Given the description of an element on the screen output the (x, y) to click on. 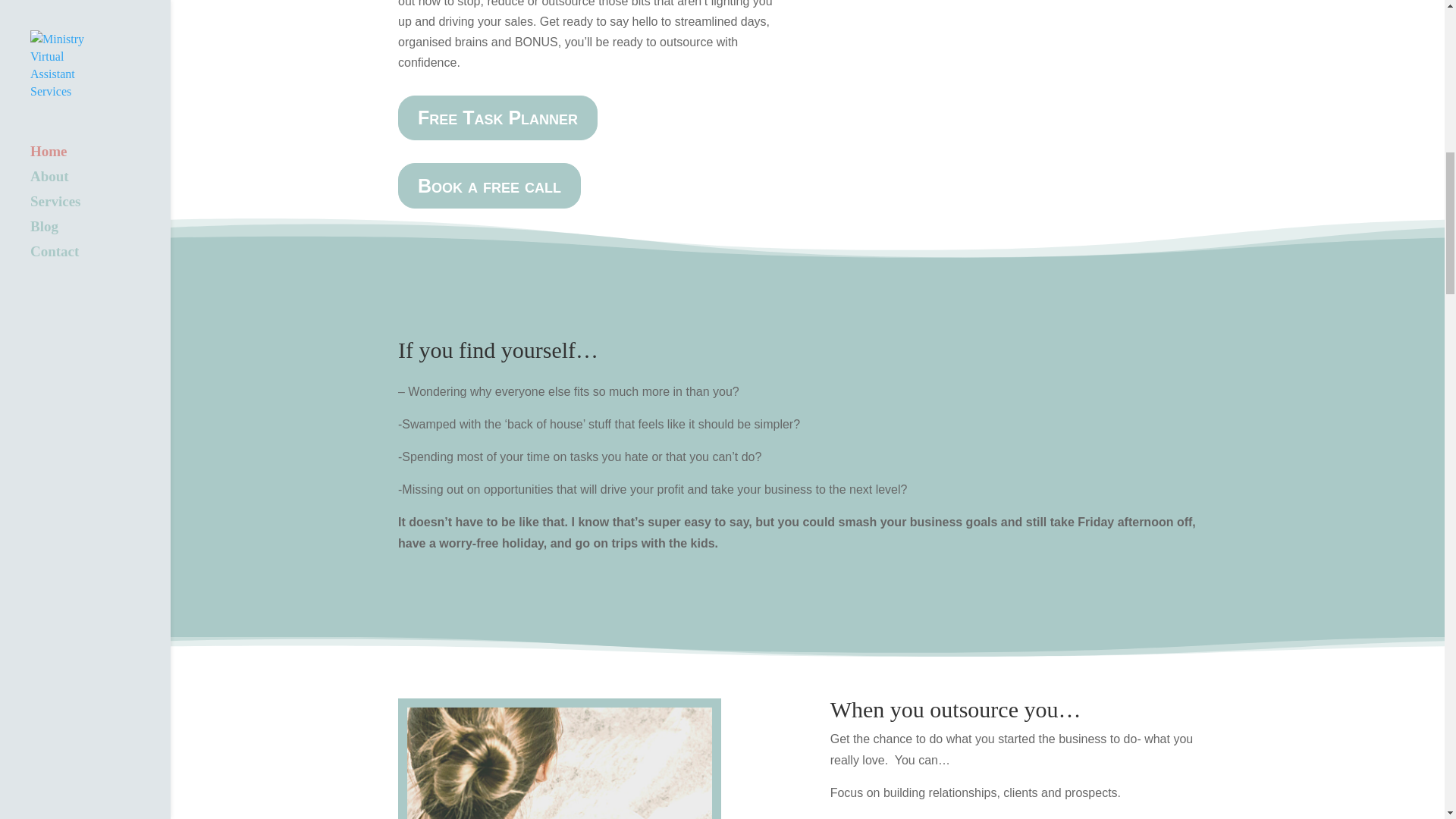
MVA Website Portrtait images (559, 763)
Free Task Planner (496, 117)
Book a free call (488, 185)
